Given the description of an element on the screen output the (x, y) to click on. 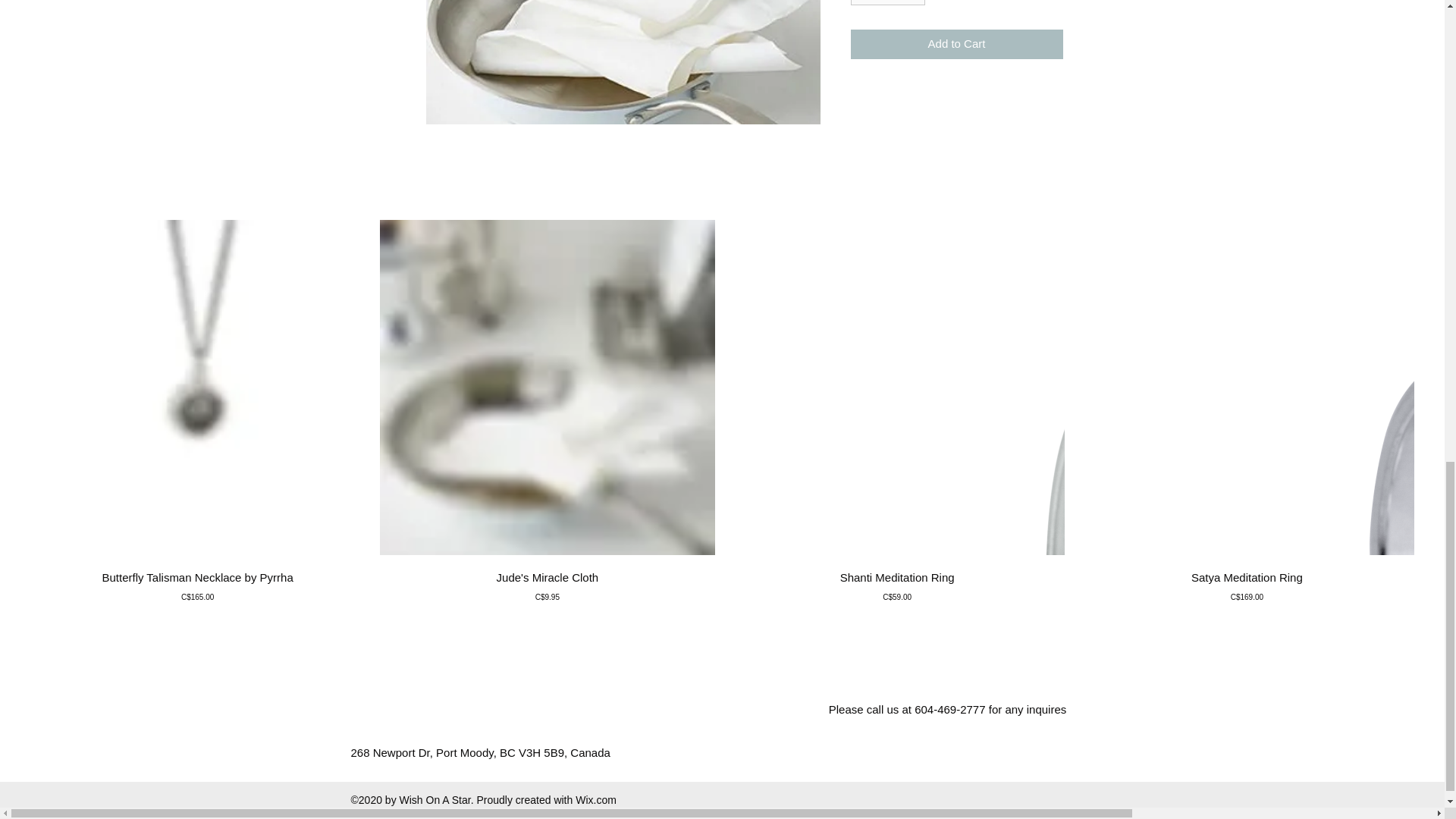
1 (887, 2)
Add to Cart (956, 43)
